Given the description of an element on the screen output the (x, y) to click on. 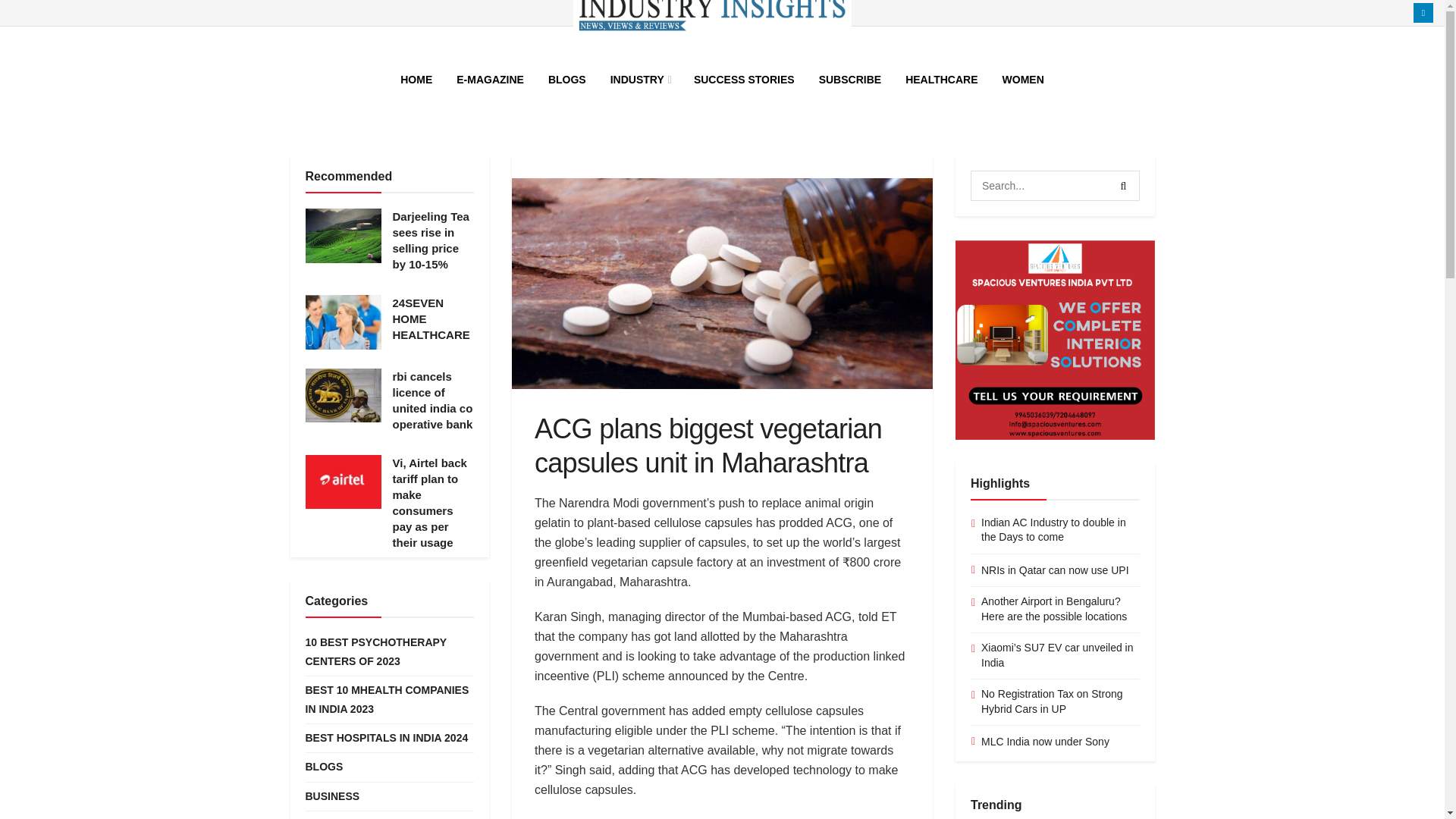
INDUSTRY (639, 79)
SUBSCRIBE (849, 79)
SUCCESS STORIES (743, 79)
HOME (416, 79)
E-MAGAZINE (489, 79)
WOMEN (1023, 79)
BLOGS (566, 79)
HEALTHCARE (941, 79)
